Given the description of an element on the screen output the (x, y) to click on. 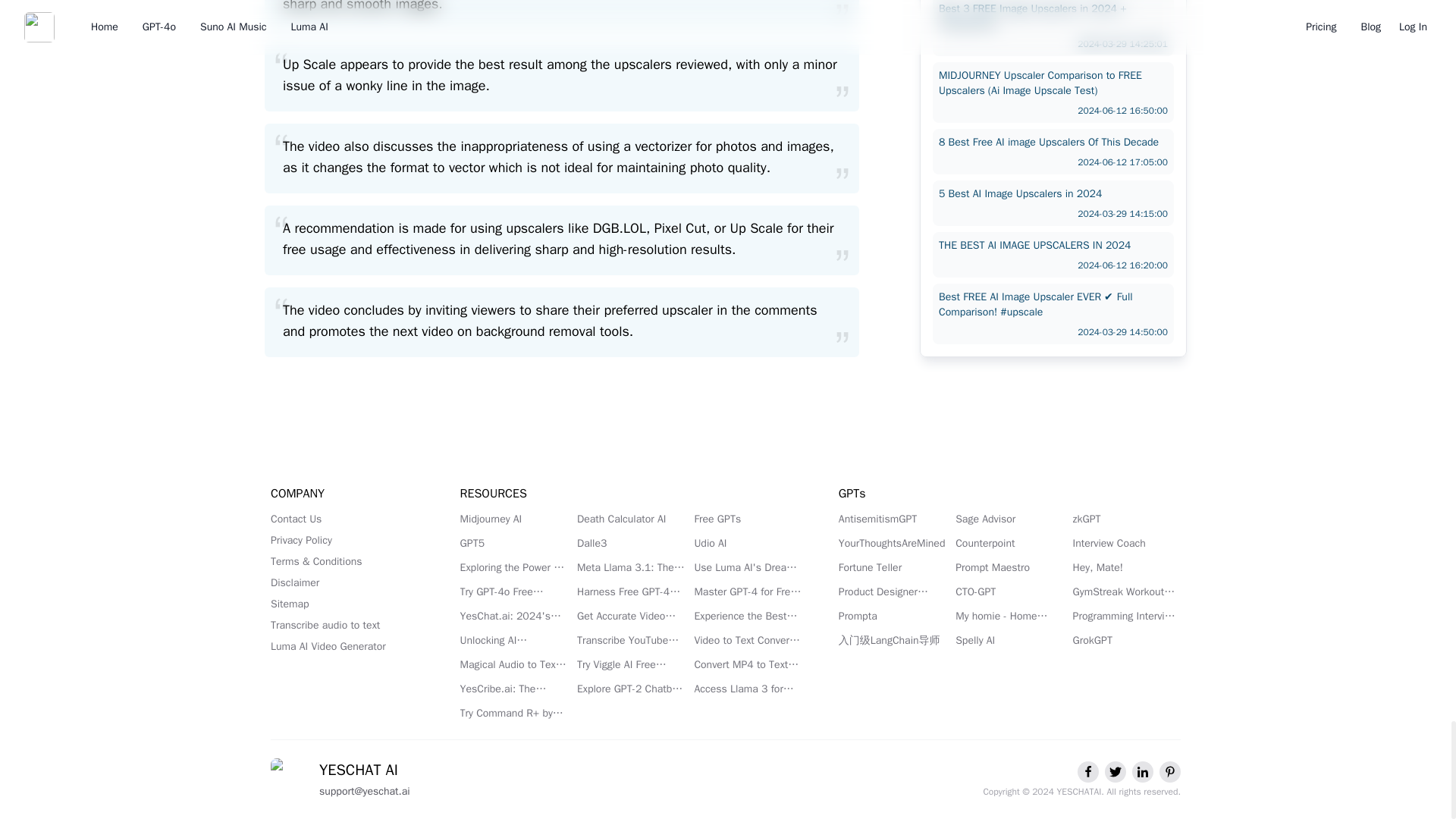
Experience the Best speech to Text AI with YesCribe.ai (748, 616)
Death Calculator AI (630, 519)
Contact Us (346, 519)
Midjourney AI (513, 519)
Dalle3 (630, 543)
Luma AI Video Generator (346, 646)
Death Calculator AI (630, 519)
Udio AI (748, 543)
Contact Us (346, 519)
Transcribe audio to text (346, 625)
Disclaimer (346, 582)
Sitemap (346, 604)
Udio AI (748, 543)
